Given the description of an element on the screen output the (x, y) to click on. 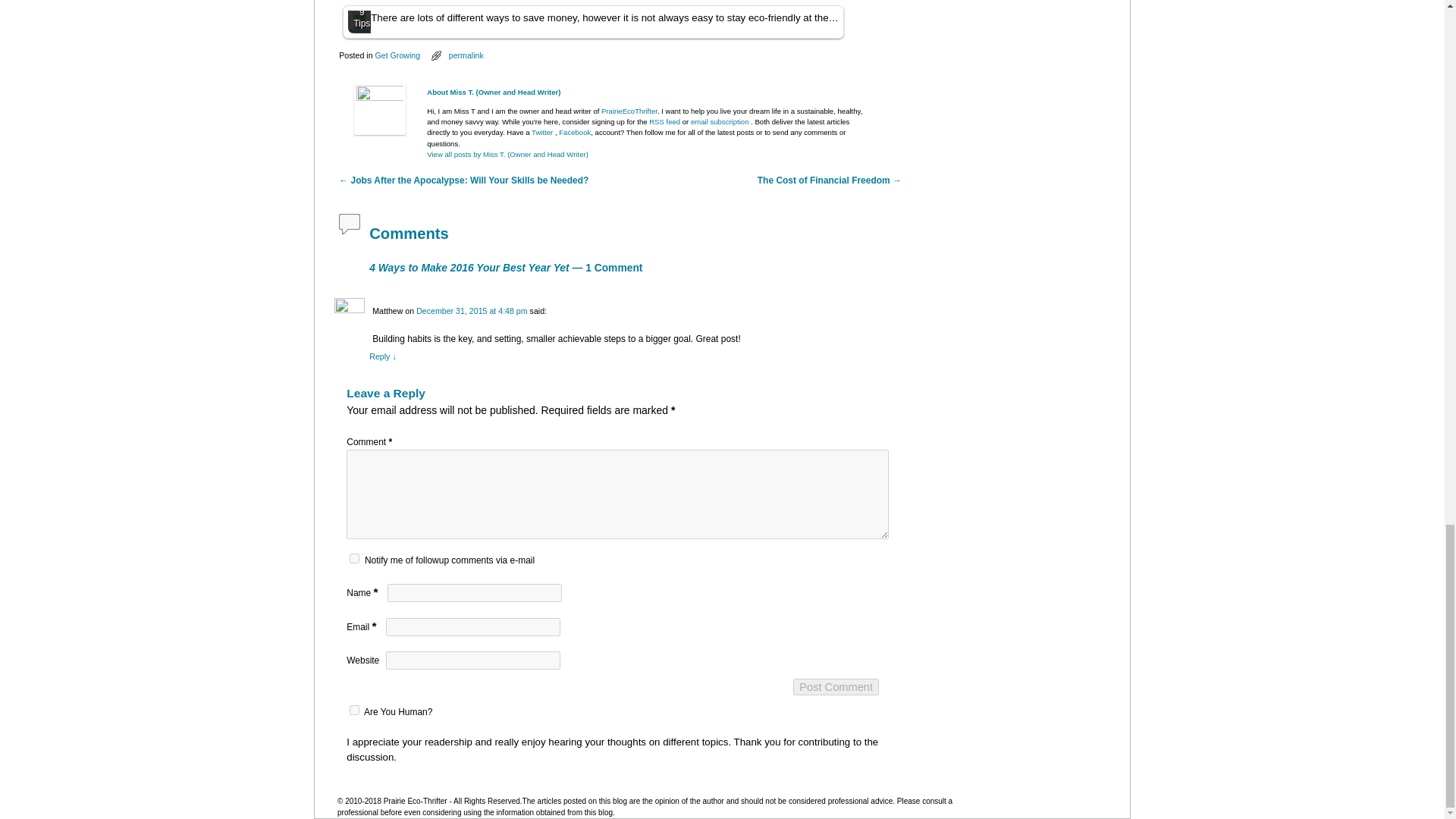
on (354, 709)
subscribe (354, 558)
Post Comment (836, 686)
